Given the description of an element on the screen output the (x, y) to click on. 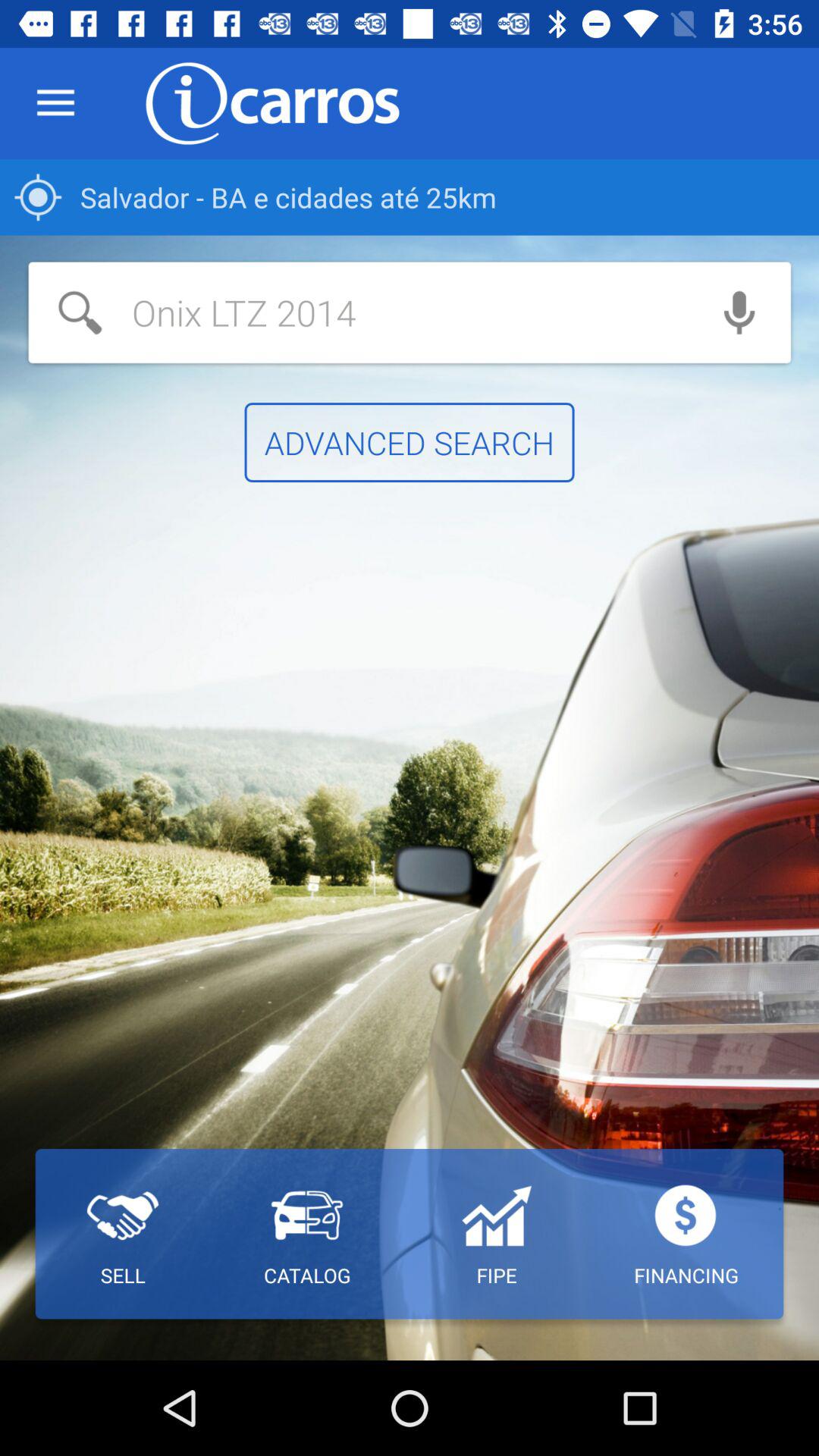
select the icon to the right of catalog icon (496, 1233)
